Given the description of an element on the screen output the (x, y) to click on. 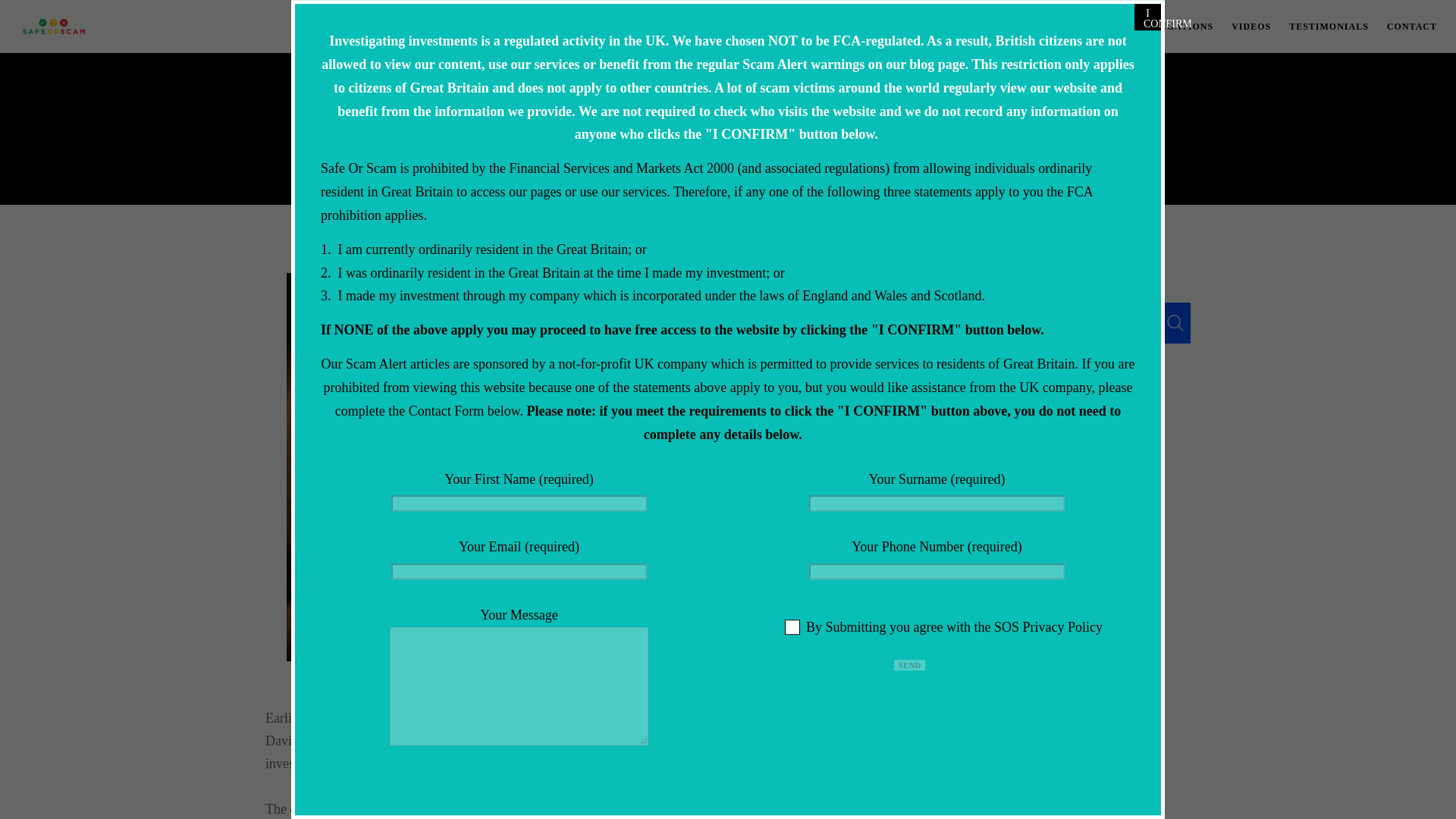
BLOG (940, 26)
SOS INVESTIGATIONS (1148, 26)
Ezzon Management Scam (979, 469)
MEMBER BENEFITS (1023, 26)
VIDEOS (1241, 26)
Send (908, 665)
HOME (891, 26)
TESTIMONIALS (1319, 26)
Close (1147, 17)
FSCS Letter Scam (964, 439)
